Given the description of an element on the screen output the (x, y) to click on. 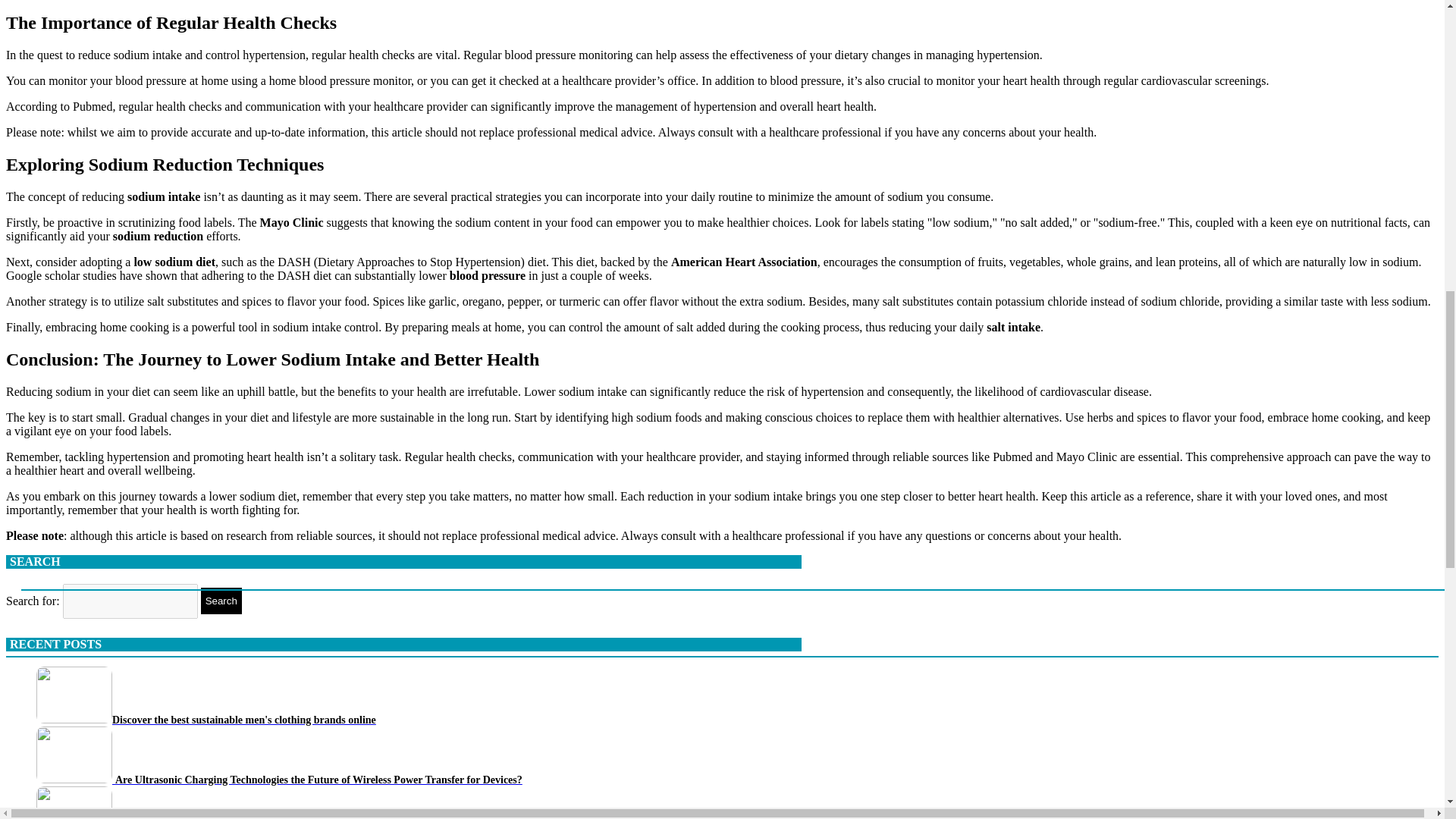
Search (220, 601)
Discover the best sustainable men's clothing brands online (205, 718)
Search (220, 601)
